Given the description of an element on the screen output the (x, y) to click on. 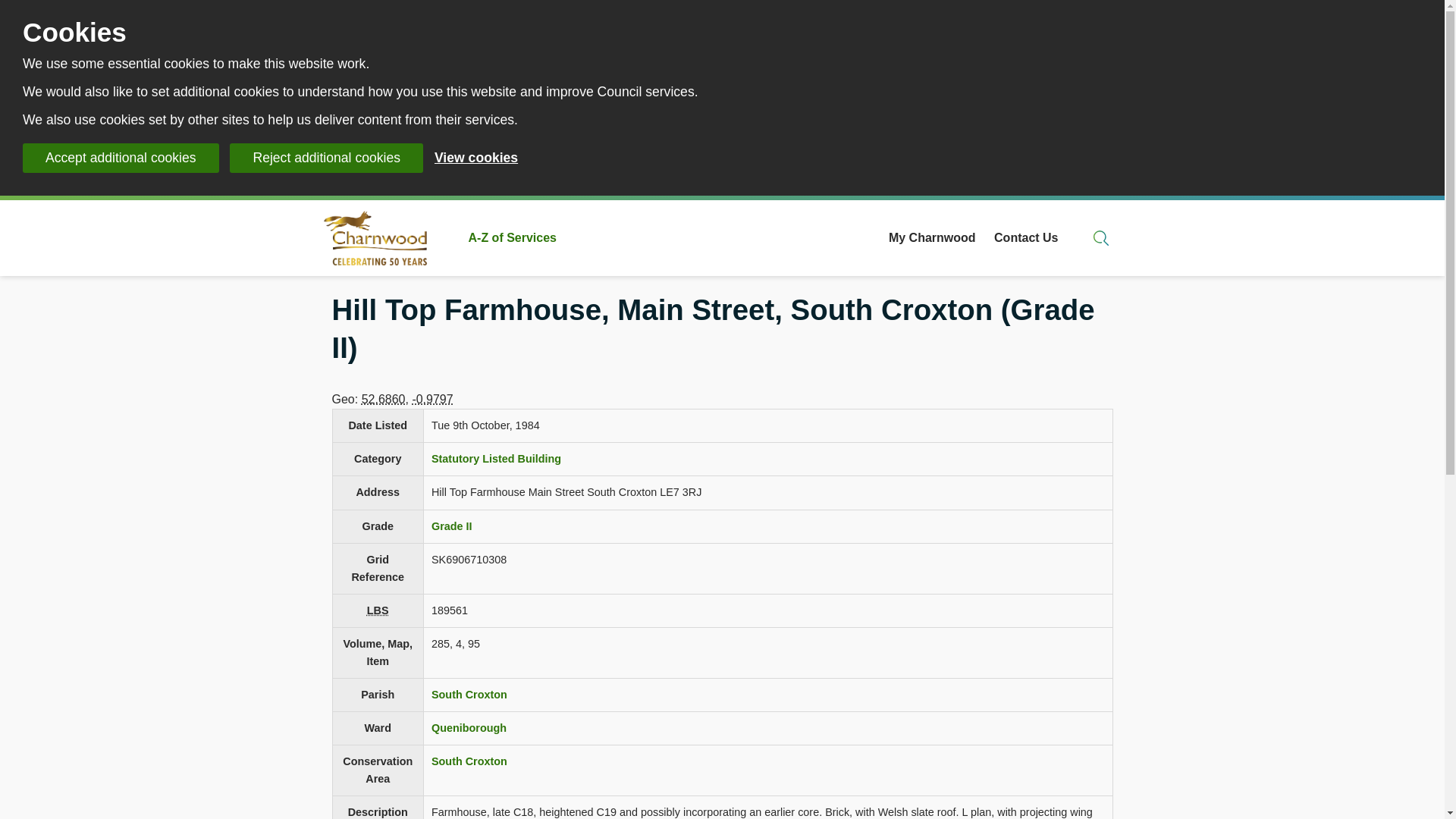
Grade II (450, 526)
Charnwood Borough Council (380, 238)
My Charnwood (931, 238)
Queniborough (468, 727)
52.686048284786 (383, 399)
Reject additional cookies (326, 157)
South Croxton (468, 761)
South Croxton (468, 694)
Accept additional cookies (121, 157)
Listed Building System (377, 610)
Contact Us (1026, 238)
Search (1101, 238)
-0.97967891748999 (432, 399)
Statutory Listed Building (495, 458)
Search (1101, 238)
